Given the description of an element on the screen output the (x, y) to click on. 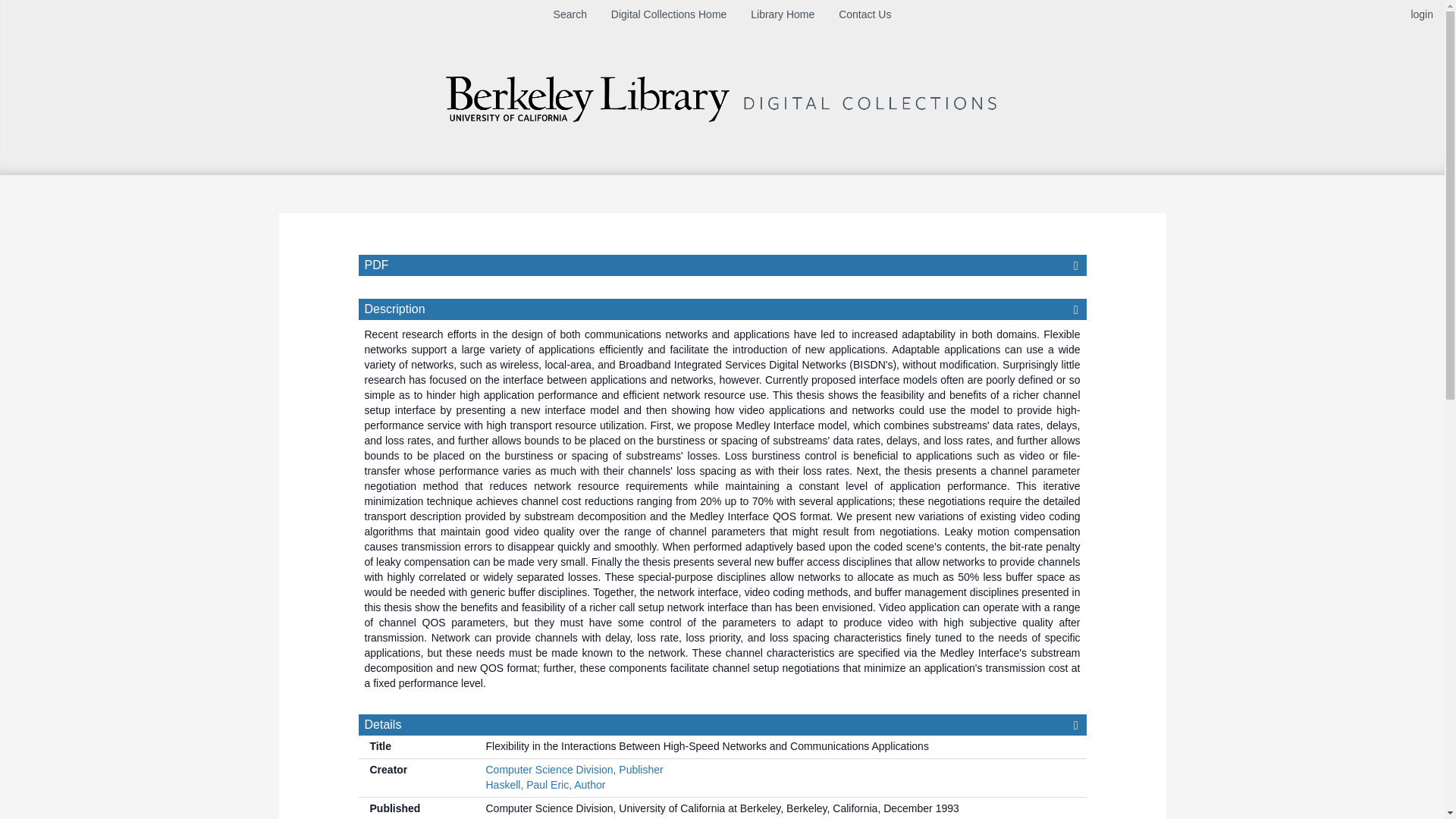
Digital Collections Home (668, 14)
Search (569, 14)
Contact Us (864, 14)
Library Home (782, 14)
login (1421, 14)
Computer Science Division, Publisher (573, 769)
Haskell, Paul Eric, Author (544, 784)
